Given the description of an element on the screen output the (x, y) to click on. 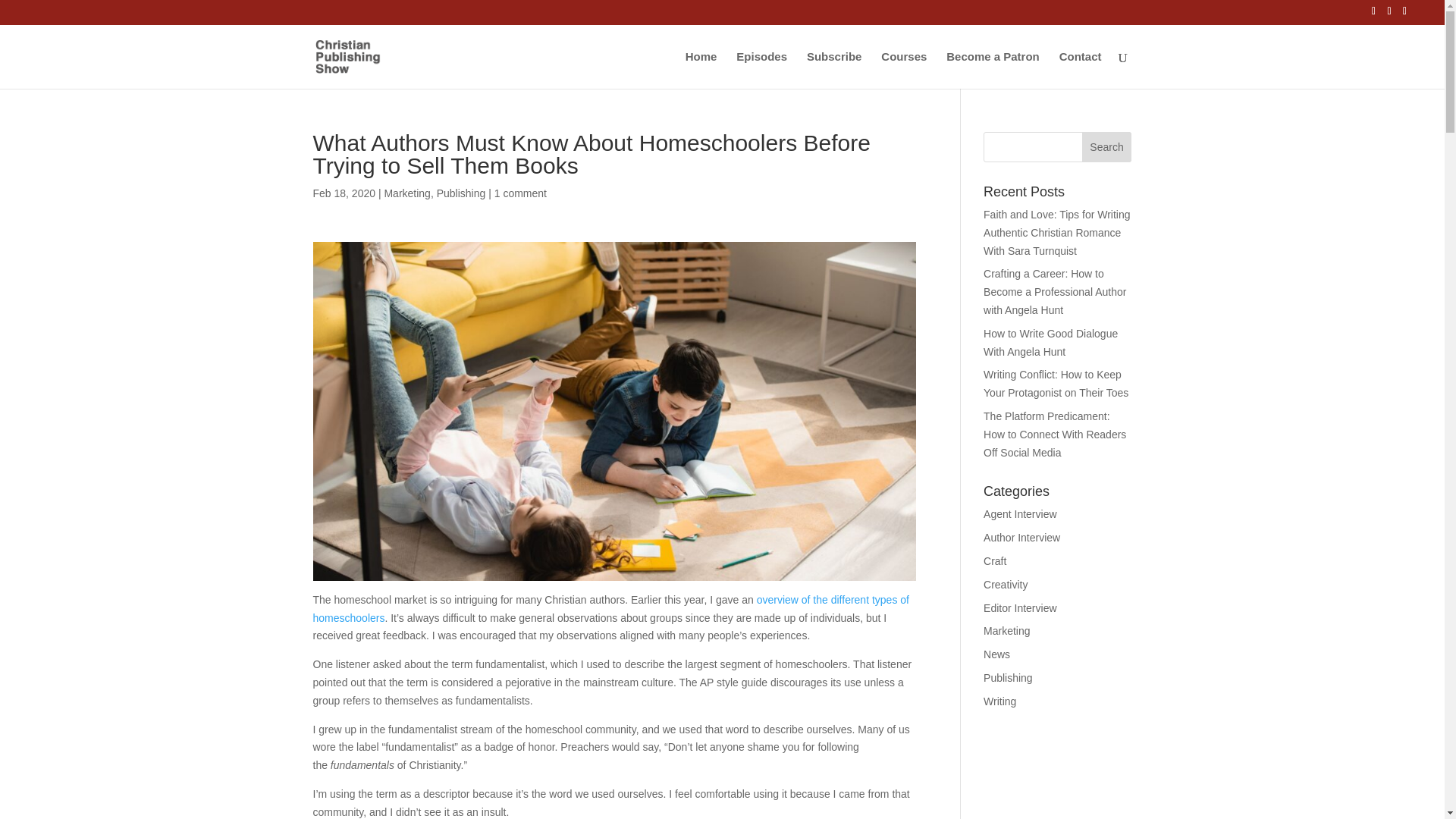
Publishing (461, 193)
overview of the different types of homeschoolers (610, 608)
Search (1106, 146)
Become a Patron (992, 69)
Subscribe (833, 69)
Search (1106, 146)
Contact (1080, 69)
Courses (903, 69)
Episodes (761, 69)
Marketing (406, 193)
1 comment (521, 193)
